Given the description of an element on the screen output the (x, y) to click on. 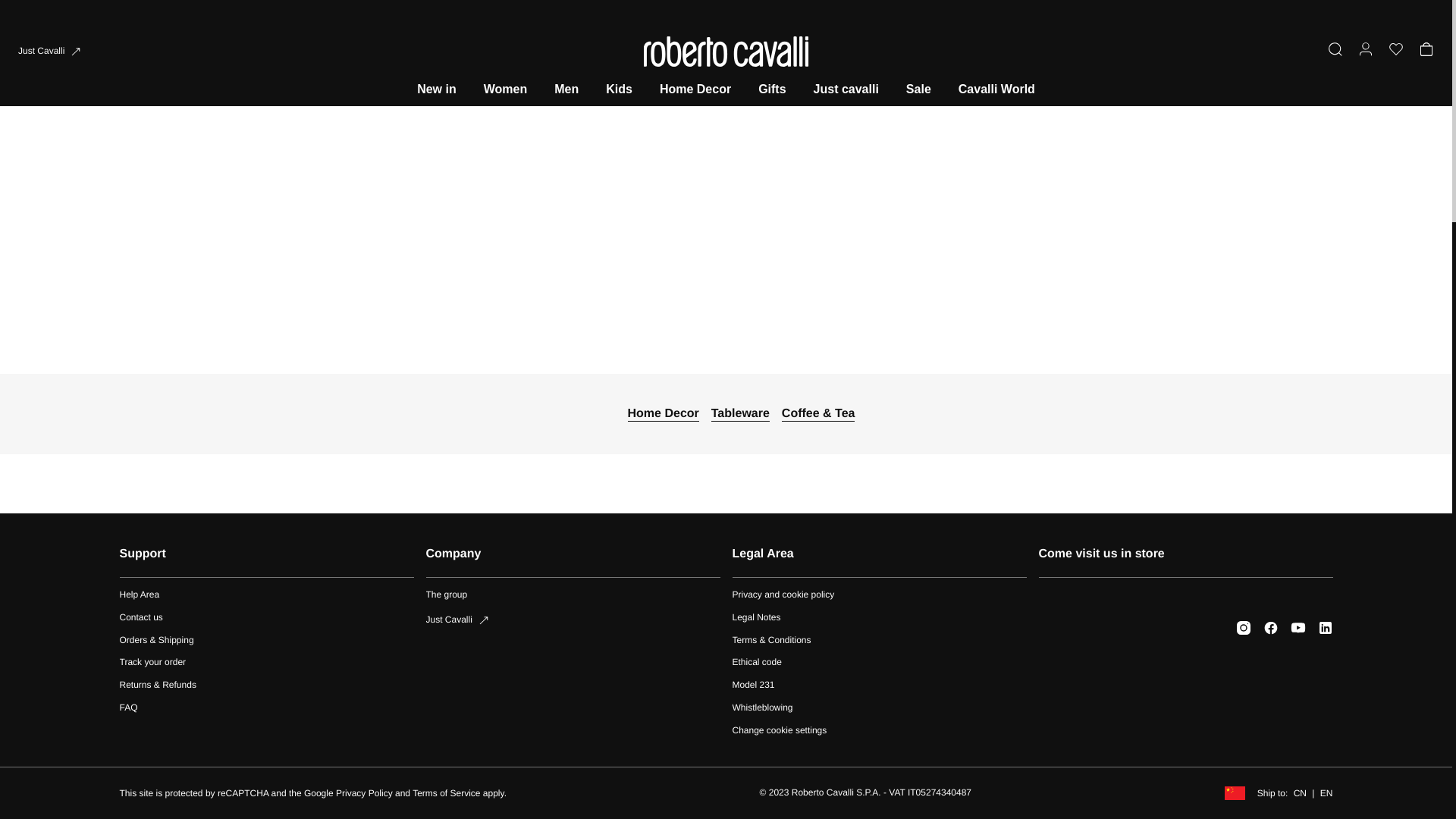
Ethical code (879, 662)
Just Cavalli (573, 620)
The group (573, 594)
Privacy and cookie policy (879, 594)
Instagram (1243, 627)
Track your order (573, 603)
Whistleblowing (266, 662)
Help Area (879, 707)
Model 231 (266, 594)
